Given the description of an element on the screen output the (x, y) to click on. 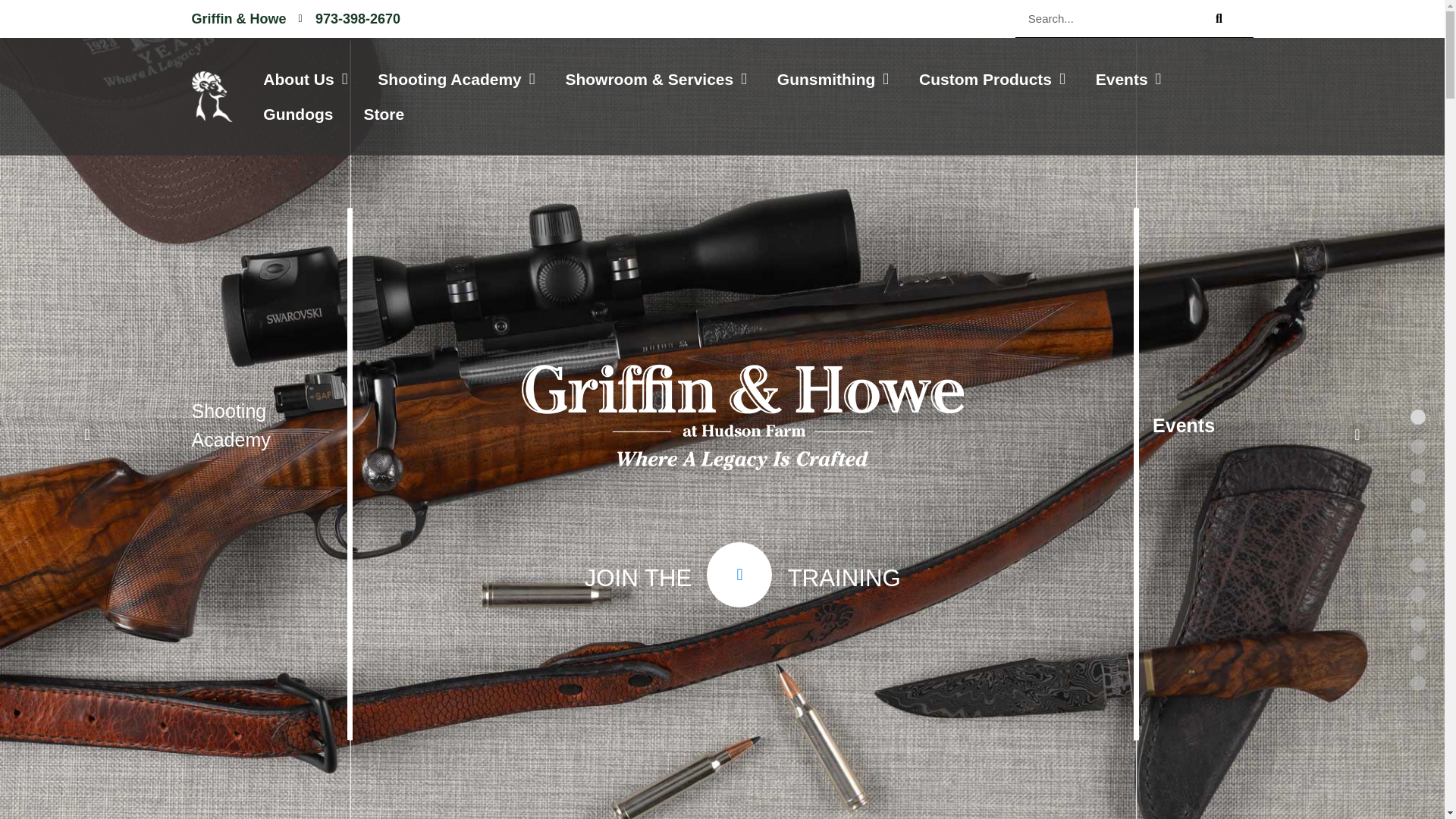
About Us (304, 79)
Gunsmithing (832, 79)
Shooting Academy (456, 79)
previous item (87, 434)
973-398-2670 (349, 19)
next item (1356, 434)
